Given the description of an element on the screen output the (x, y) to click on. 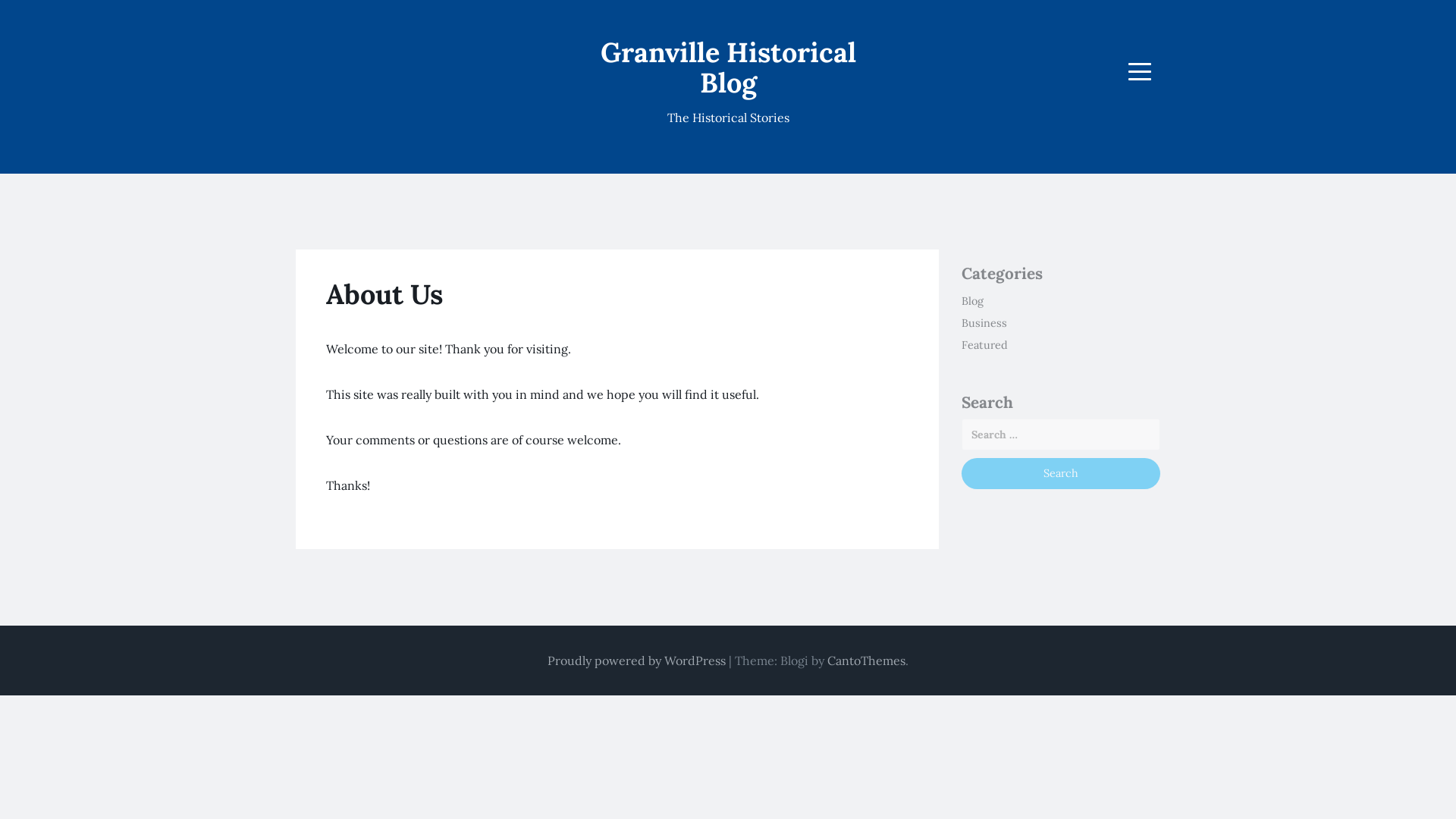
Business Element type: text (984, 322)
CantoThemes Element type: text (866, 660)
Search Element type: text (1061, 473)
Featured Element type: text (984, 344)
Menu Element type: text (1139, 71)
Blog Element type: text (972, 300)
Granville Historical Blog Element type: text (728, 67)
Proudly powered by WordPress Element type: text (636, 660)
